Given the description of an element on the screen output the (x, y) to click on. 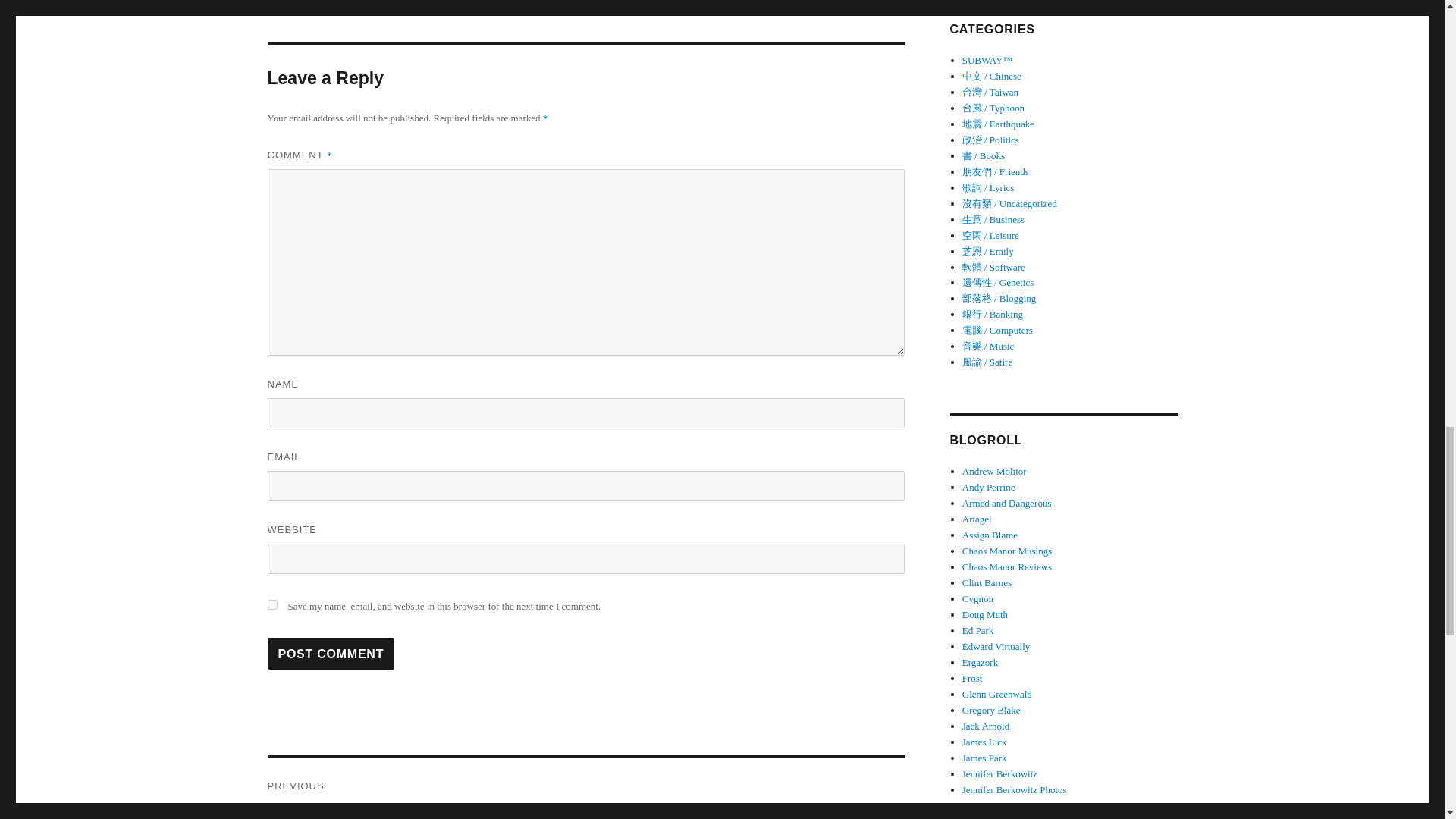
Post Comment (330, 653)
Post Comment (330, 653)
yes (271, 604)
